Given the description of an element on the screen output the (x, y) to click on. 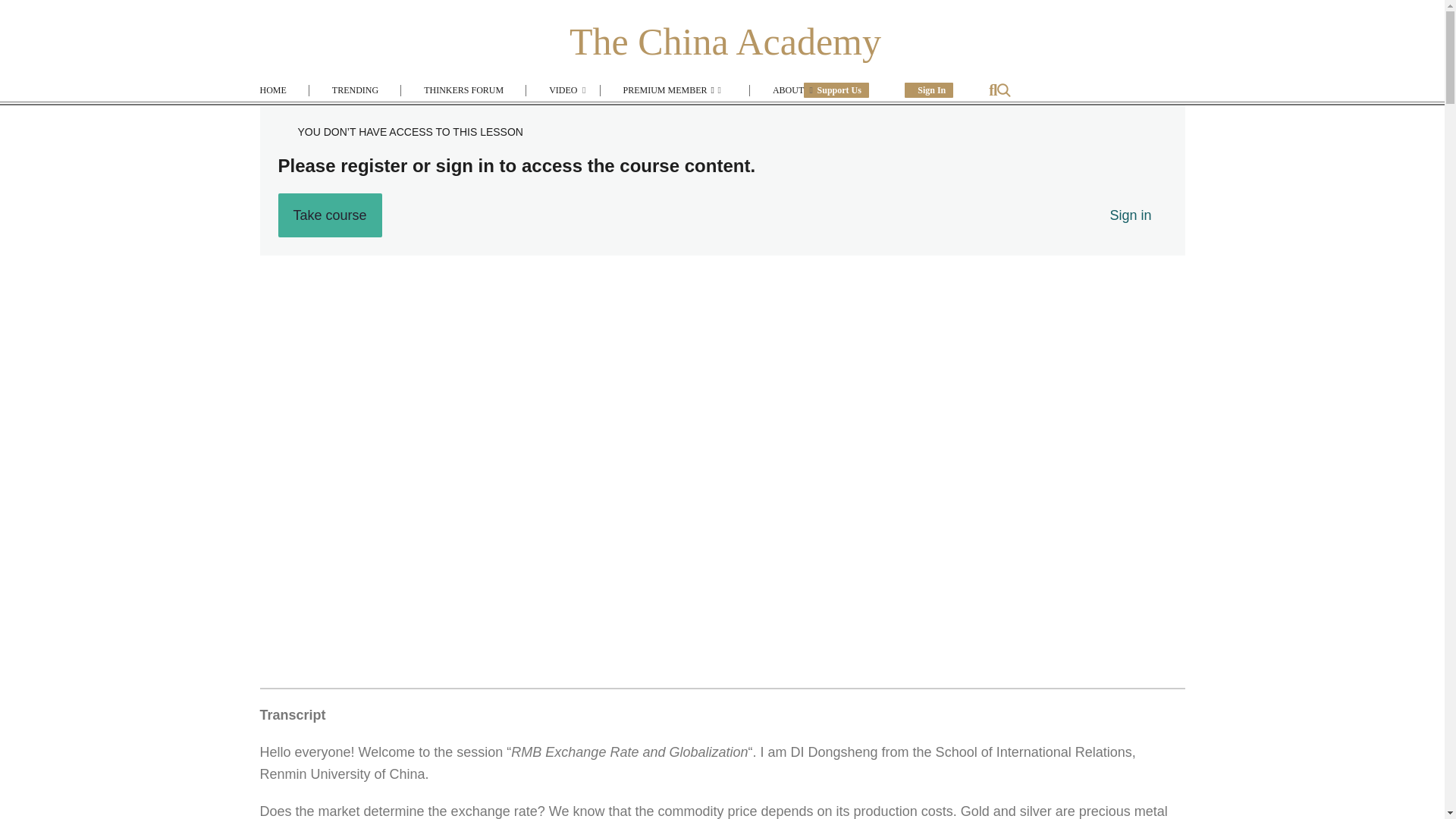
Support Us (836, 89)
ABOUT (776, 90)
Sign In (928, 89)
Contributors (773, 100)
support us (836, 89)
Thinkers Forum (556, 100)
HOME (283, 90)
PREMIUM MEMBER (674, 90)
THINKERS FORUM (463, 90)
VIDEO (562, 90)
TRENDING (354, 90)
Intelligence (623, 100)
Global Arena (551, 100)
China Currents (554, 100)
Talks (611, 100)
